Given the description of an element on the screen output the (x, y) to click on. 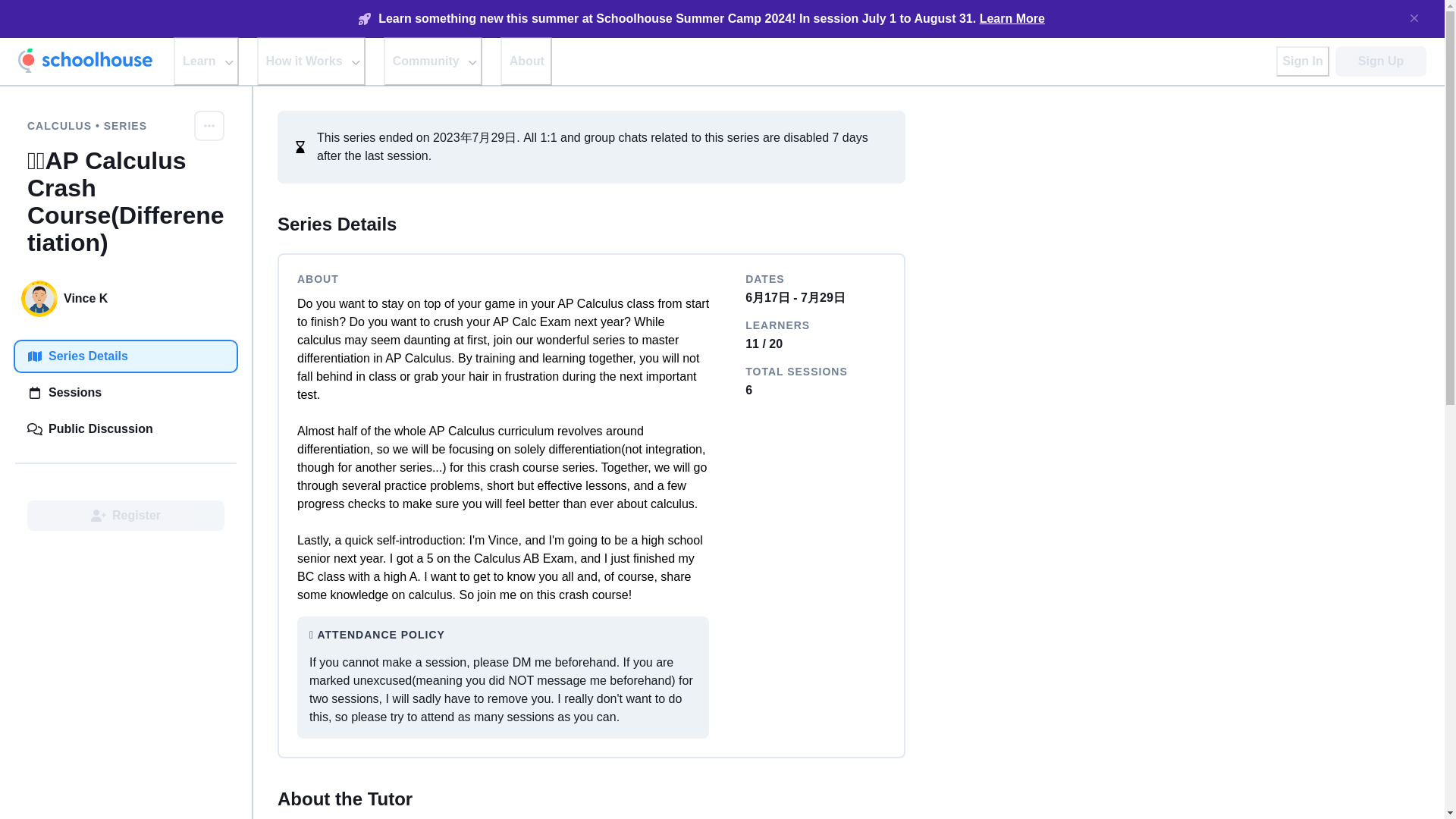
Learn (205, 60)
Community (432, 60)
About (526, 60)
Schoolhouse.world: peer tutoring, for free. (84, 60)
Schoolhouse.world: peer tutoring, for free. (84, 61)
Learn (205, 60)
How it Works (311, 60)
Learn More (1012, 18)
